Given the description of an element on the screen output the (x, y) to click on. 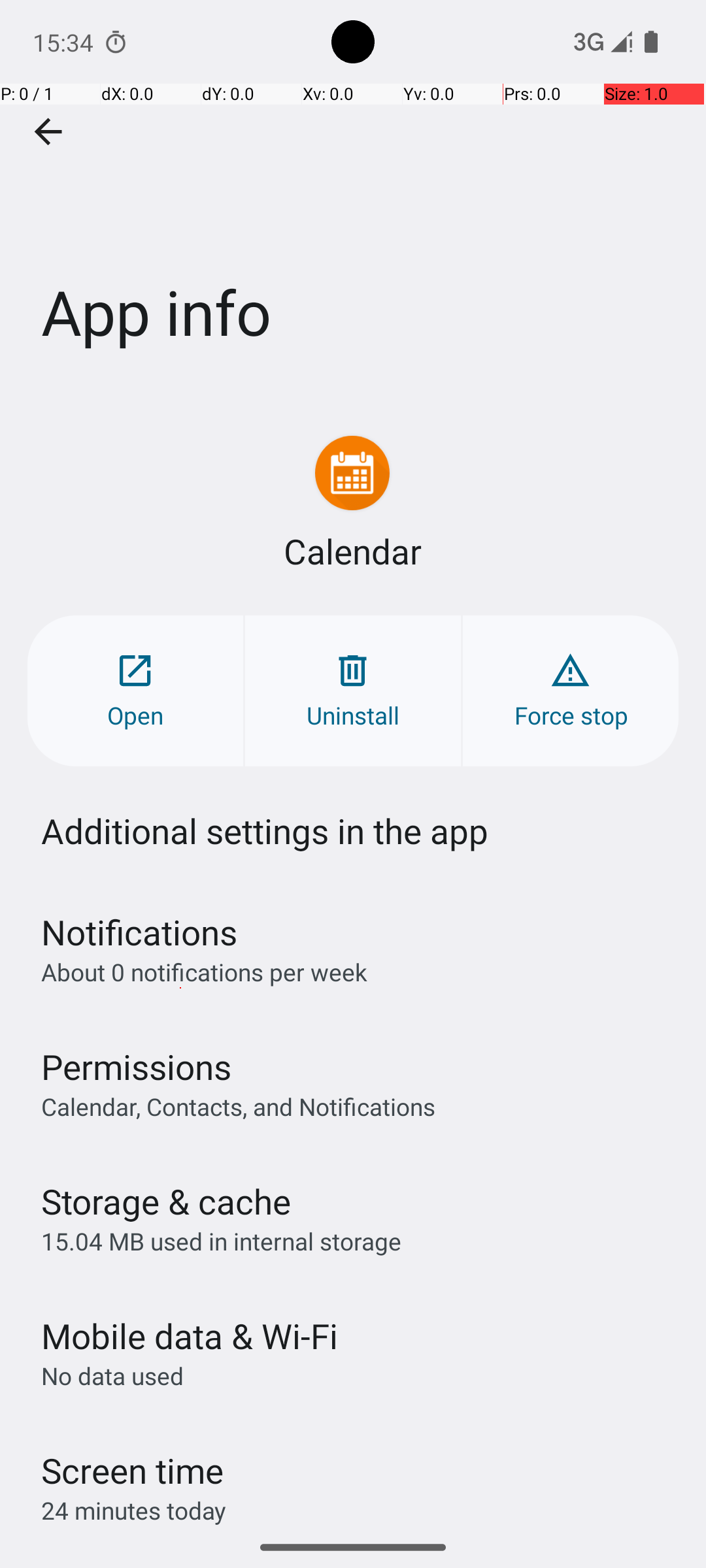
Calendar, Contacts, and Notifications Element type: android.widget.TextView (238, 1106)
15.04 MB used in internal storage Element type: android.widget.TextView (221, 1240)
24 minutes today Element type: android.widget.TextView (133, 1509)
